Given the description of an element on the screen output the (x, y) to click on. 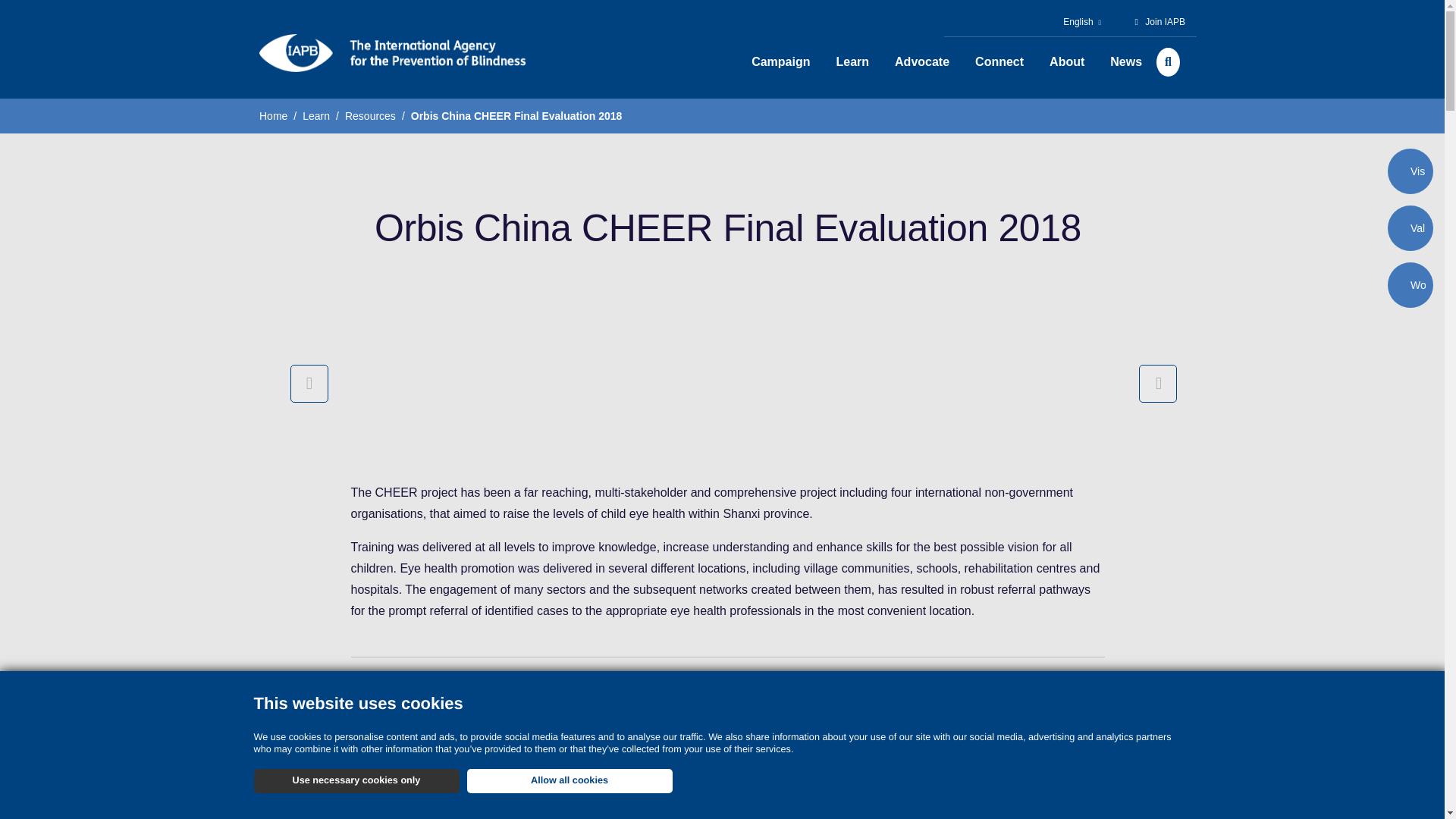
Allow all cookies (569, 781)
Use necessary cookies only (355, 781)
